Given the description of an element on the screen output the (x, y) to click on. 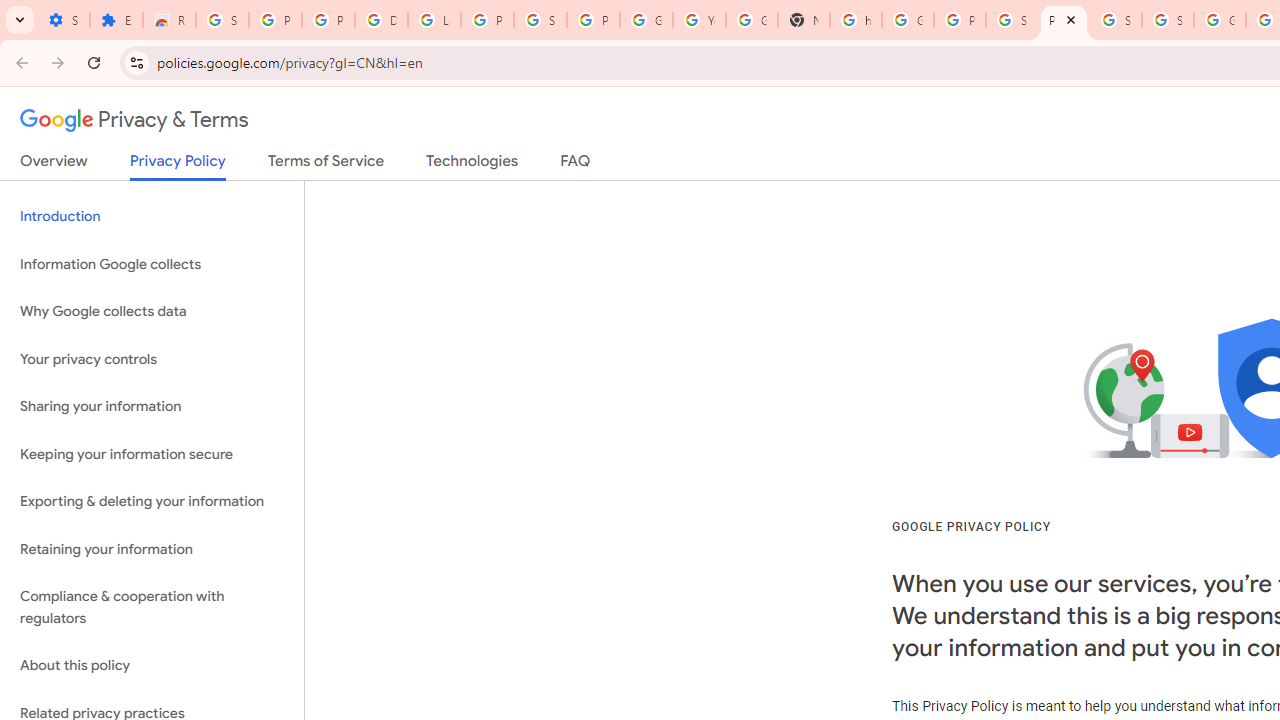
Settings - On startup (63, 20)
